Given the description of an element on the screen output the (x, y) to click on. 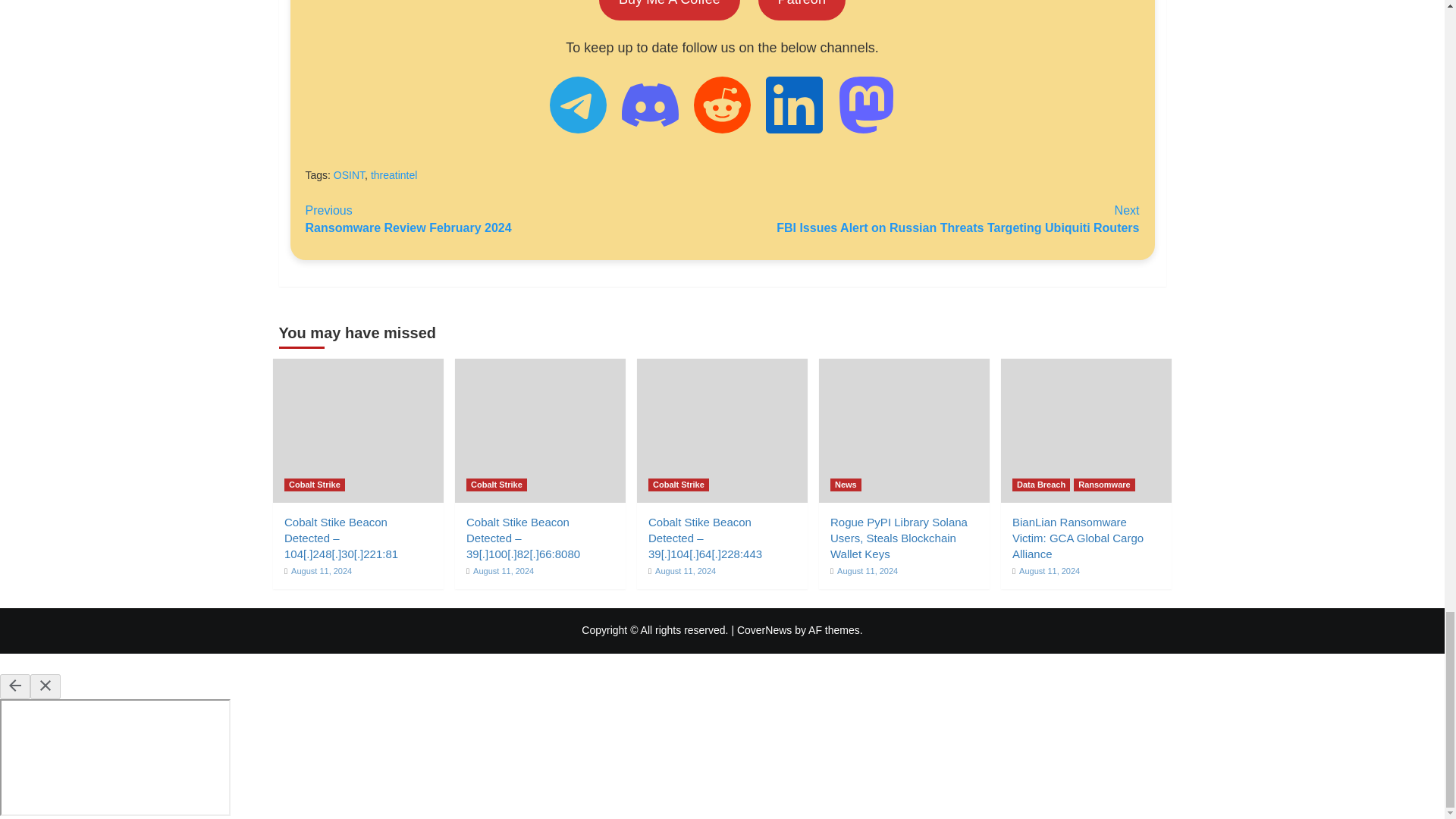
Mastodon (866, 104)
Discord (649, 104)
Reddit (722, 104)
Telegram (578, 104)
LinkedIn (793, 104)
